Given the description of an element on the screen output the (x, y) to click on. 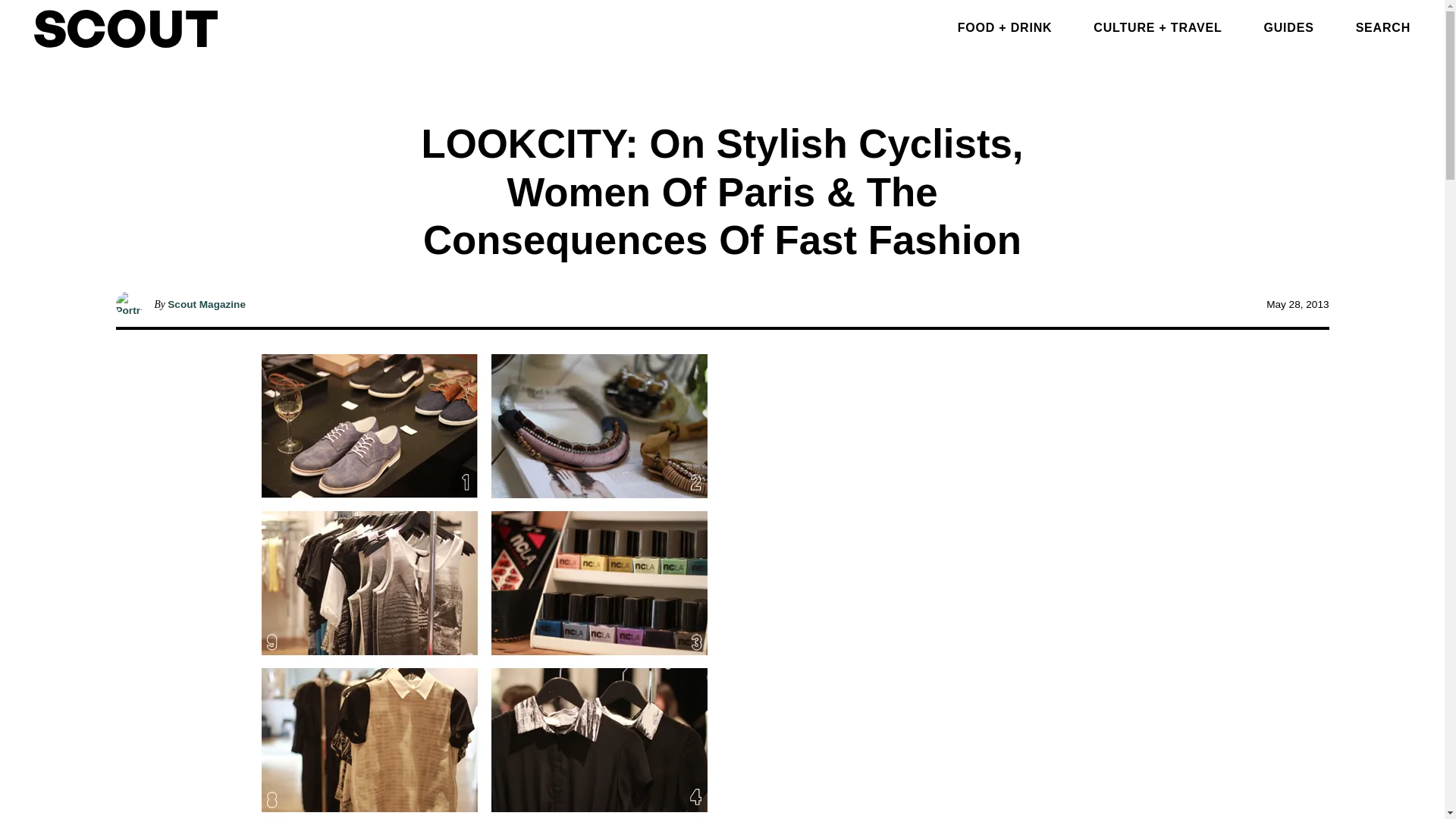
SEARCH (1382, 27)
GUIDES (1288, 27)
2013-05-28T04:35:40-07:00 (1296, 304)
Scout Magazine (206, 304)
